Given the description of an element on the screen output the (x, y) to click on. 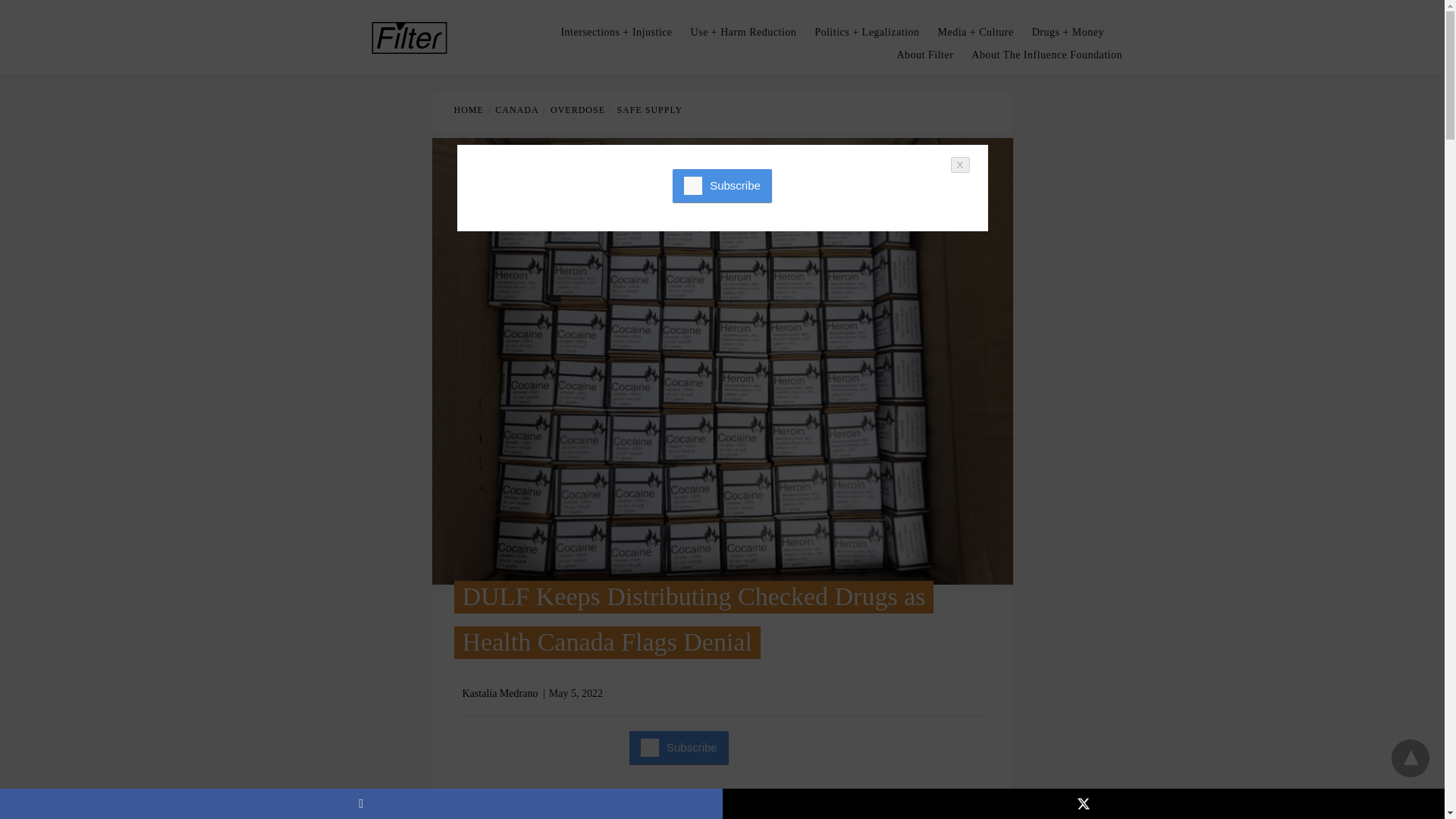
SAFE SUPPLY (648, 109)
HOME (472, 109)
Kastalia Medrano (500, 693)
canada (521, 109)
Filter (409, 38)
safe supply (648, 109)
About The Influence Foundation (1046, 55)
Kastalia Medrano (500, 693)
CANADA (521, 109)
OVERDOSE (581, 109)
overdose (581, 109)
About Filter (924, 55)
Subscribe (678, 747)
Home (472, 109)
